Given the description of an element on the screen output the (x, y) to click on. 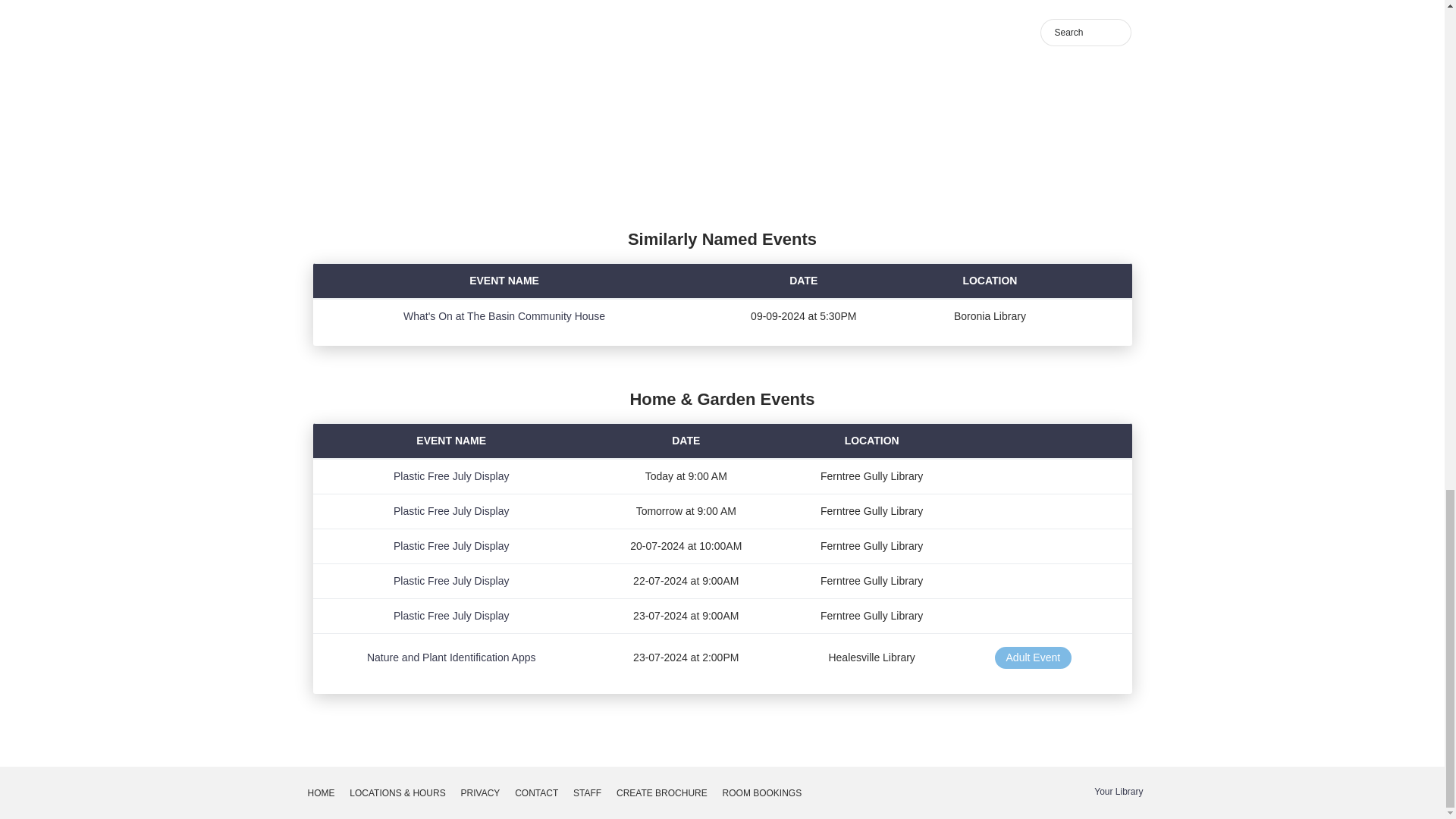
PRIVACY (480, 793)
STAFF (587, 793)
Nature and Plant Identification Apps (450, 657)
CONTACT (536, 793)
ROOM BOOKINGS (762, 793)
Plastic Free July Display (451, 510)
Plastic Free July Display (451, 580)
Plastic Free July Display (451, 476)
Plastic Free July Display (451, 545)
What's On at The Basin Community House (504, 316)
Plastic Free July Display (451, 615)
Adult Event (1032, 658)
CREATE BROCHURE (661, 793)
Your Library (1118, 791)
HOME (320, 793)
